Given the description of an element on the screen output the (x, y) to click on. 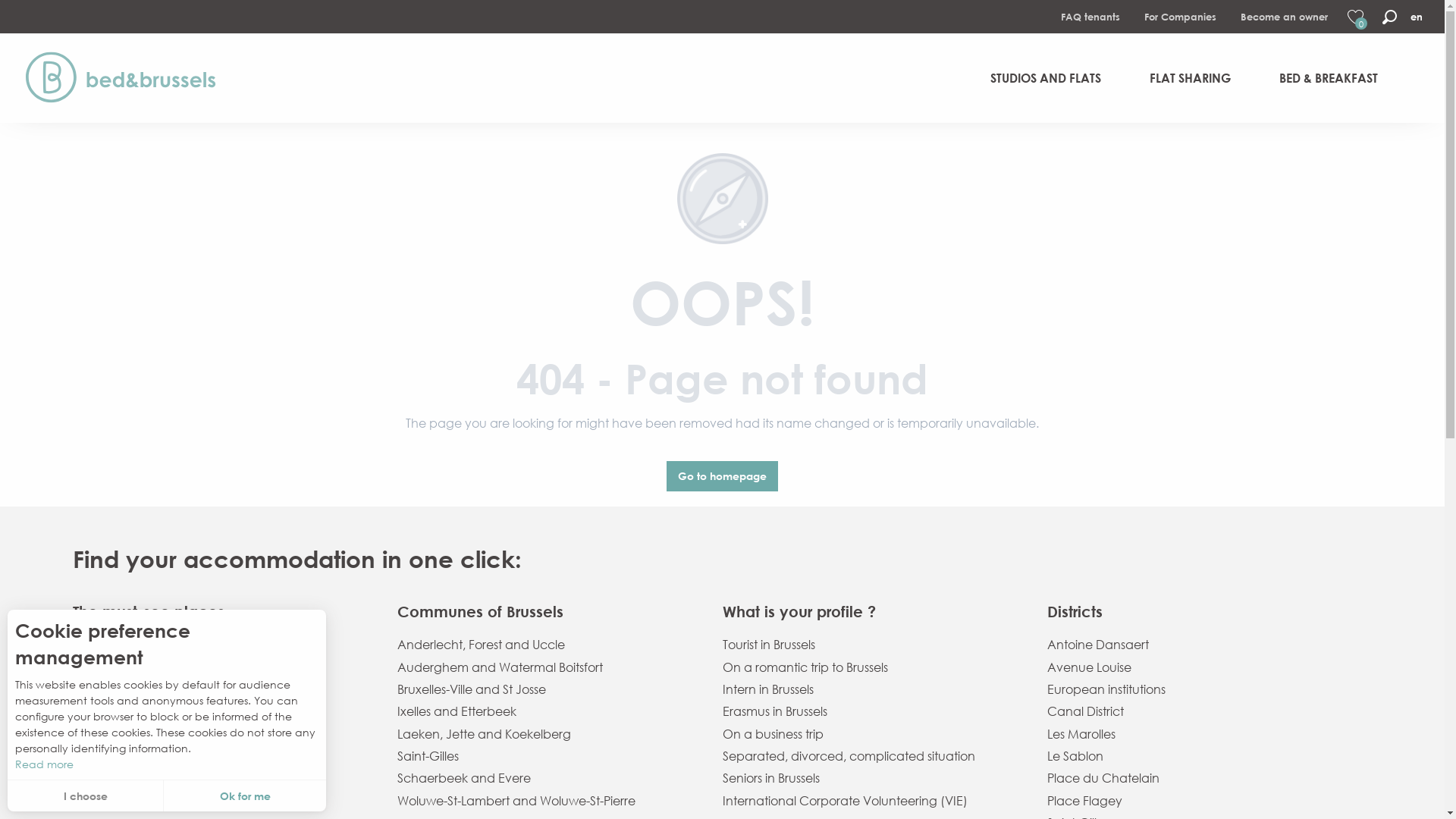
Woluwe-St-Lambert and Woluwe-St-Pierre Element type: text (547, 800)
Place Flagey Element type: text (1197, 800)
STUDIOS AND FLATS Element type: text (1045, 77)
Canal District Element type: text (1197, 711)
On a romantic trip to Brussels Element type: text (871, 666)
Saint-Gilles Element type: text (547, 755)
Auderghem and Watermal Boitsfort Element type: text (547, 666)
Read more Element type: text (166, 763)
Les Marolles Element type: text (1197, 733)
International Corporate Volunteering (VIE) Element type: text (871, 800)
I choose Element type: text (85, 795)
On a business trip Element type: text (871, 733)
Atomium and Brussels Expo Element type: text (222, 644)
Intern in Brussels Element type: text (871, 688)
Ixelles and Etterbeek Element type: text (547, 711)
0 Element type: text (1356, 17)
Laeken, Jette and Koekelberg Element type: text (547, 733)
Otan - Nato Element type: text (222, 733)
Tour & Taxi Element type: text (222, 778)
Go to homepage Element type: text (722, 476)
European institutions Element type: text (1197, 688)
European Institutions Element type: text (222, 688)
Parc du Cinquantenaire Element type: text (222, 755)
FAQ tenants Element type: text (1090, 17)
Schaerbeek and Evere Element type: text (547, 778)
FLAT SHARING Element type: text (1189, 77)
BED & BREAKFAST Element type: text (1328, 77)
ULB/VUB Universities Element type: text (222, 800)
Antoine Dansaert Element type: text (1197, 644)
Canal District Element type: text (222, 711)
Avenue Louise Element type: text (1197, 666)
Place du Chatelain Element type: text (1197, 778)
Tourist in Brussels Element type: text (871, 644)
Grand Place Element type: text (222, 666)
Seniors in Brussels Element type: text (871, 778)
Become an owner Element type: text (1283, 17)
Erasmus in Brussels Element type: text (871, 711)
Separated, divorced, complicated situation Element type: text (871, 755)
Anderlecht, Forest and Uccle Element type: text (547, 644)
Le Sablon Element type: text (1197, 755)
For Companies Element type: text (1180, 17)
Ok for me Element type: text (244, 795)
Bruxelles-Ville and St Josse Element type: text (547, 688)
